Given the description of an element on the screen output the (x, y) to click on. 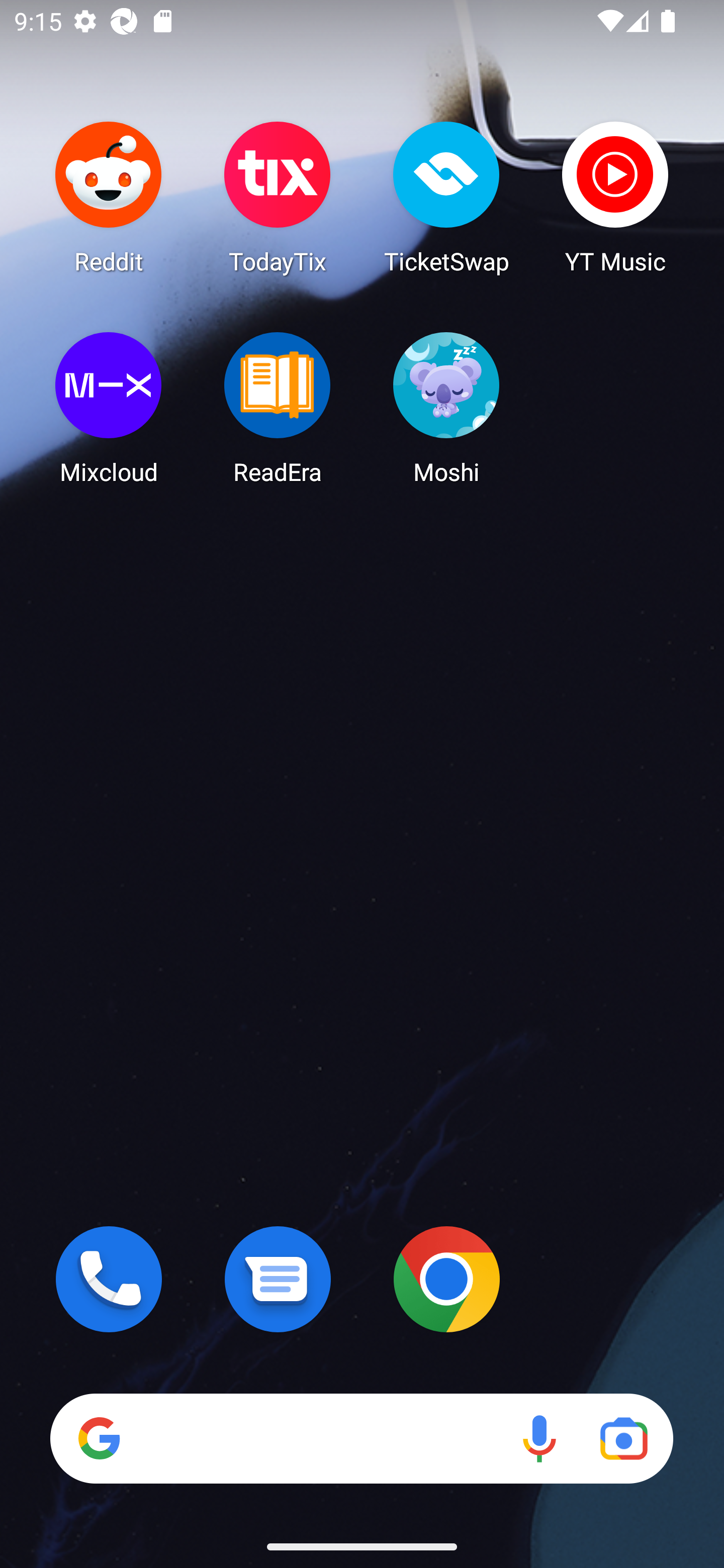
Reddit (108, 196)
TodayTix (277, 196)
TicketSwap (445, 196)
YT Music (615, 196)
Mixcloud (108, 407)
ReadEra (277, 407)
Moshi (445, 407)
Phone (108, 1279)
Messages (277, 1279)
Chrome (446, 1279)
Voice search (539, 1438)
Google Lens (623, 1438)
